Given the description of an element on the screen output the (x, y) to click on. 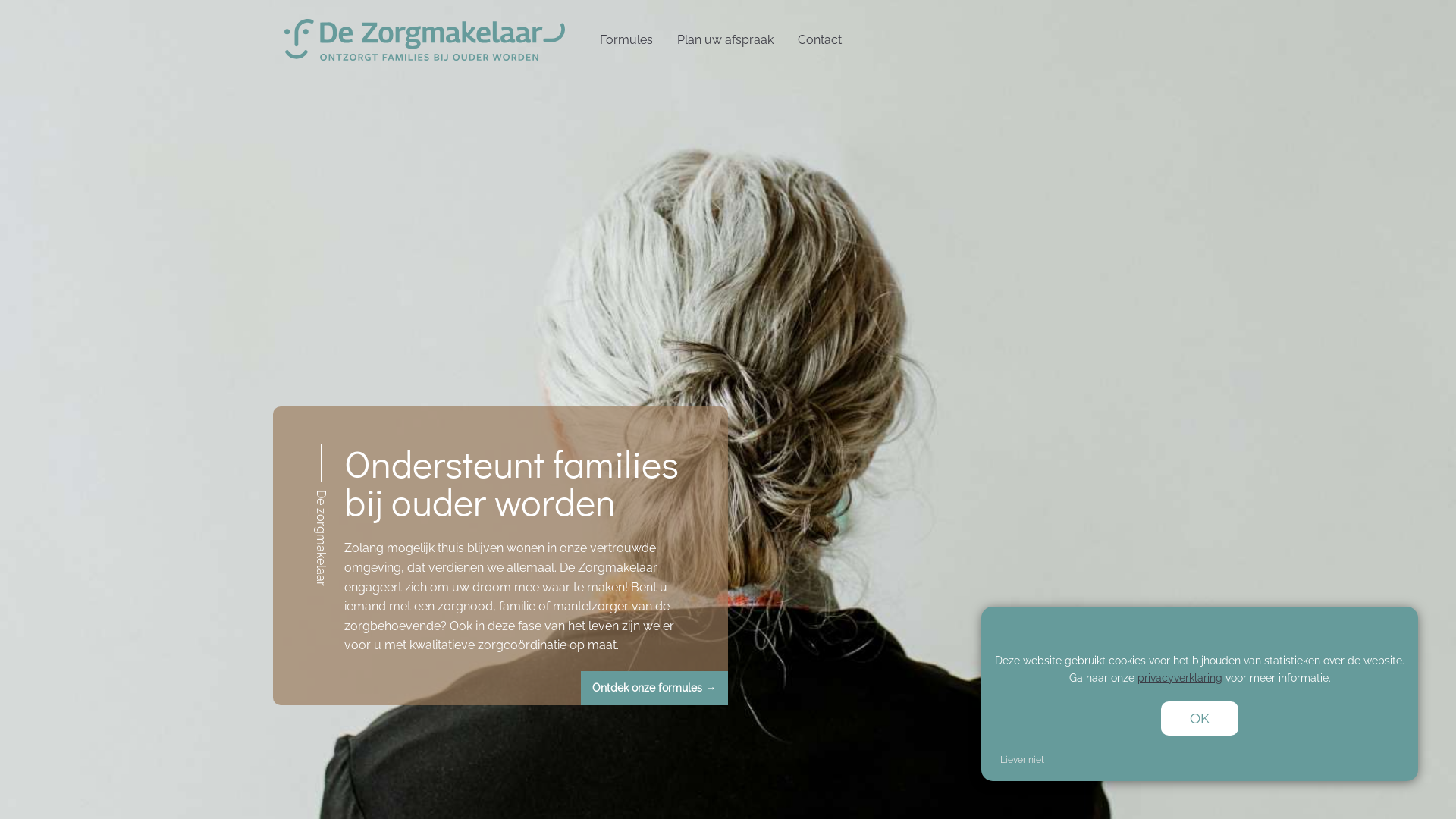
Formules Element type: text (626, 39)
privacyverklaring Element type: text (1179, 677)
Contact Element type: text (819, 39)
Plan uw afspraak Element type: text (725, 39)
OK Element type: text (1200, 718)
Liever niet Element type: text (1021, 759)
